Given the description of an element on the screen output the (x, y) to click on. 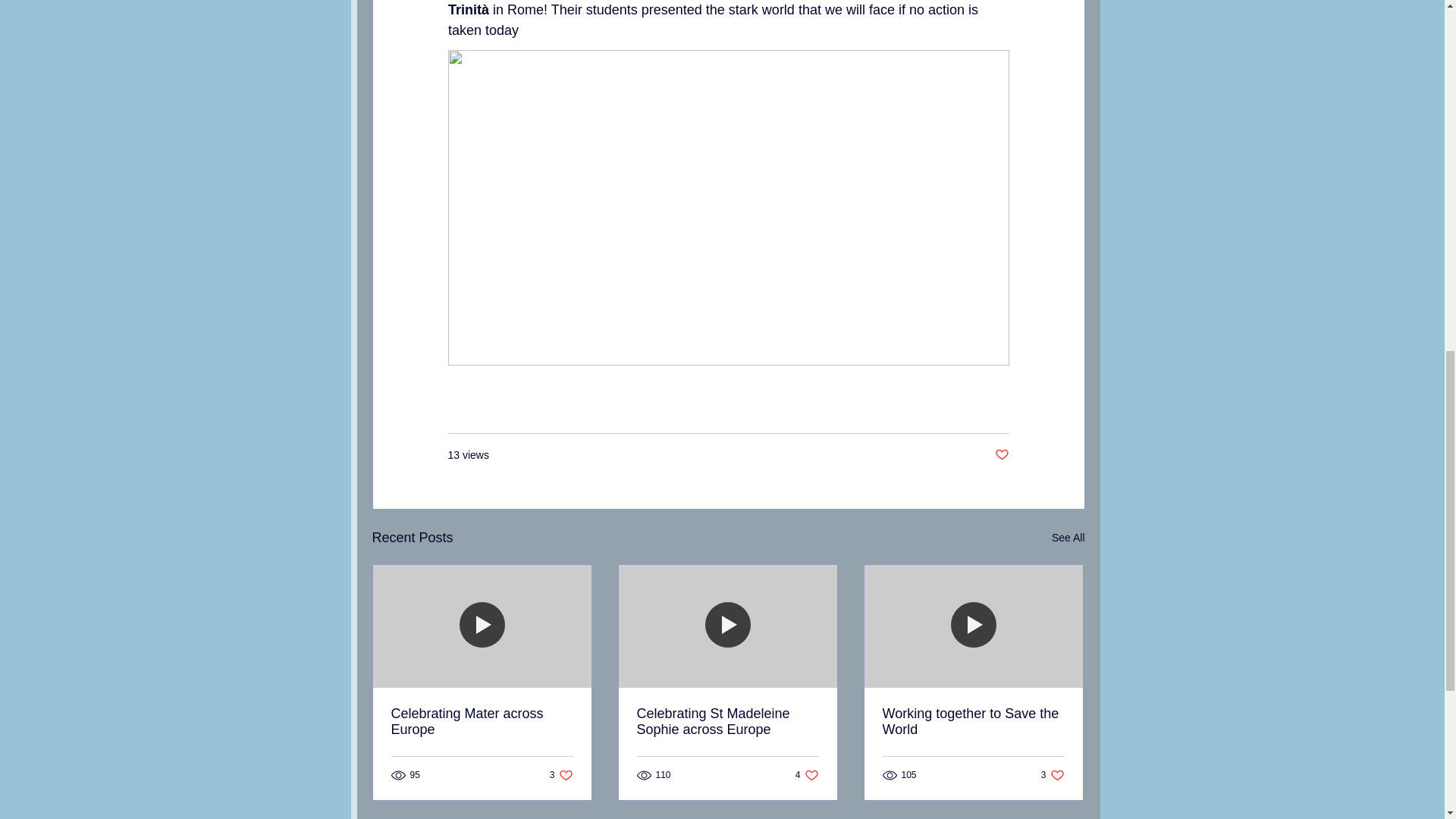
Celebrating St Madeleine Sophie across Europe (561, 775)
Celebrating Mater across Europe (806, 775)
Working together to Save the World (727, 721)
See All (482, 721)
Post not marked as liked (973, 721)
